Given the description of an element on the screen output the (x, y) to click on. 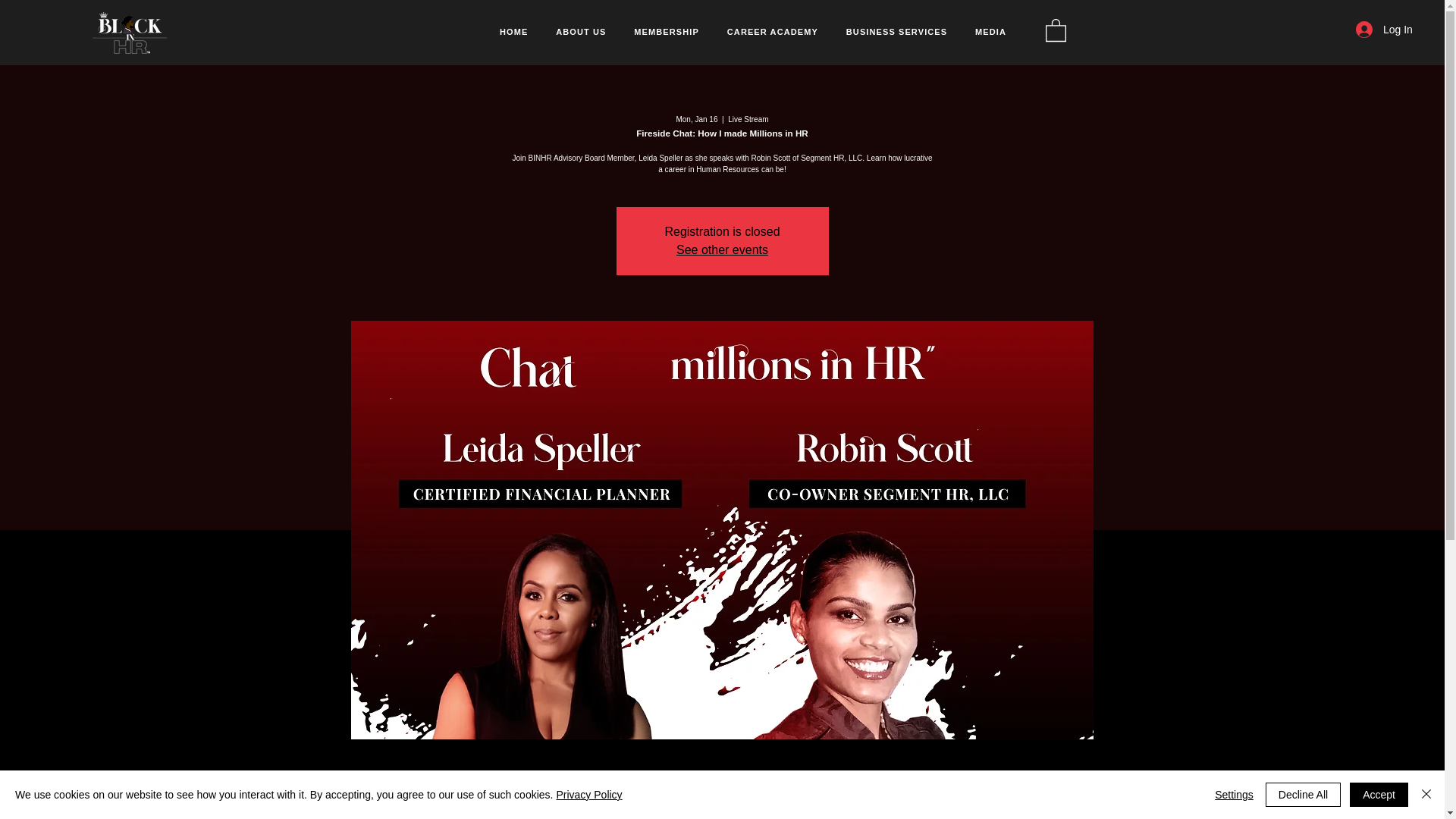
HOME (513, 31)
Log In (1369, 29)
See other events (722, 249)
